Given the description of an element on the screen output the (x, y) to click on. 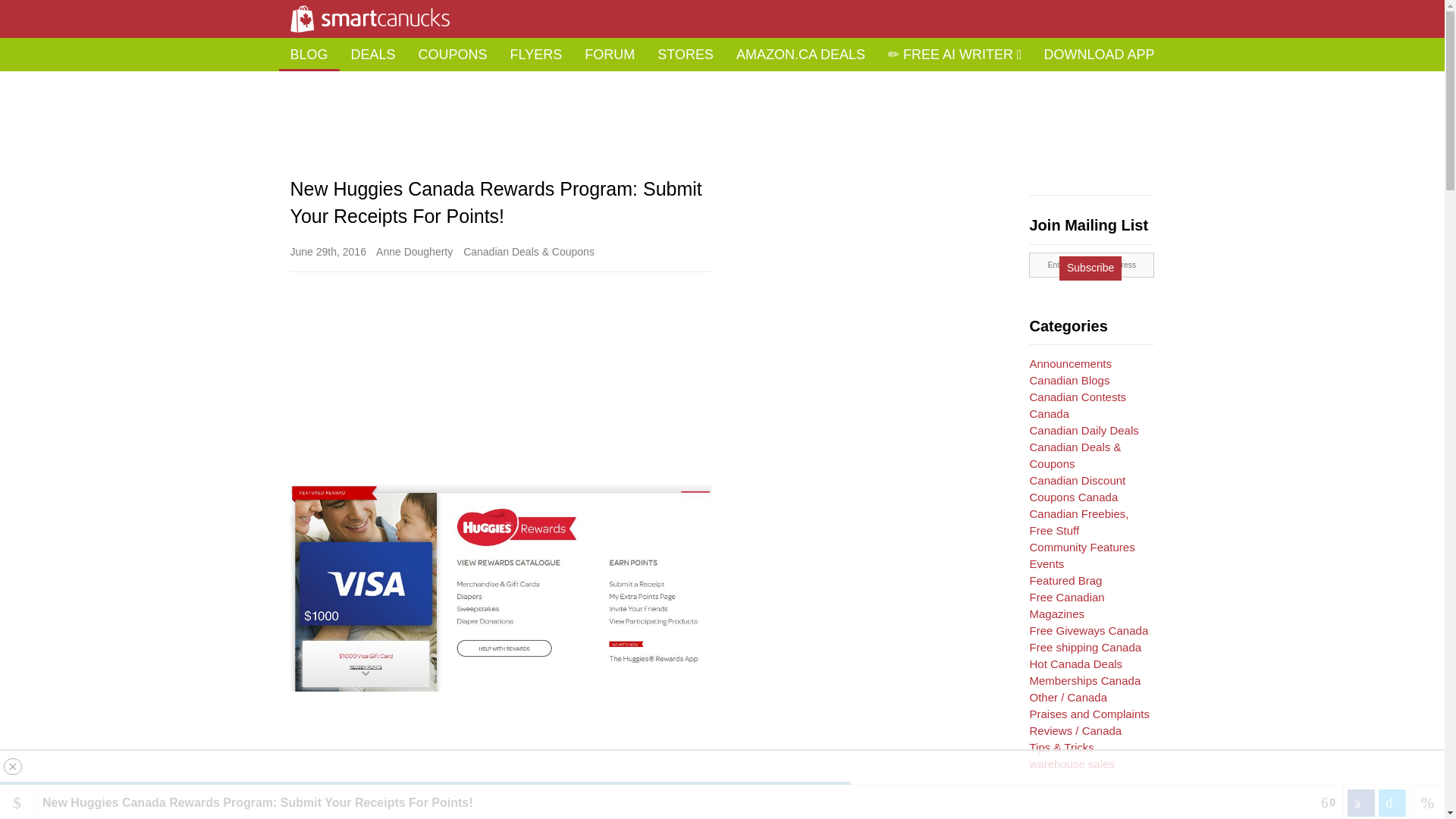
AMAZON.CA DEALS (800, 54)
FORUM (609, 54)
Advertisement (721, 160)
Anne Dougherty (413, 251)
DOWNLOAD APP (1099, 54)
DEALS (373, 54)
Advertisement (870, 555)
BLOG (309, 54)
FLYERS (536, 54)
STORES (685, 54)
Advertisement (499, 778)
Posts by Anne Dougherty (413, 251)
COUPONS (453, 54)
